Given the description of an element on the screen output the (x, y) to click on. 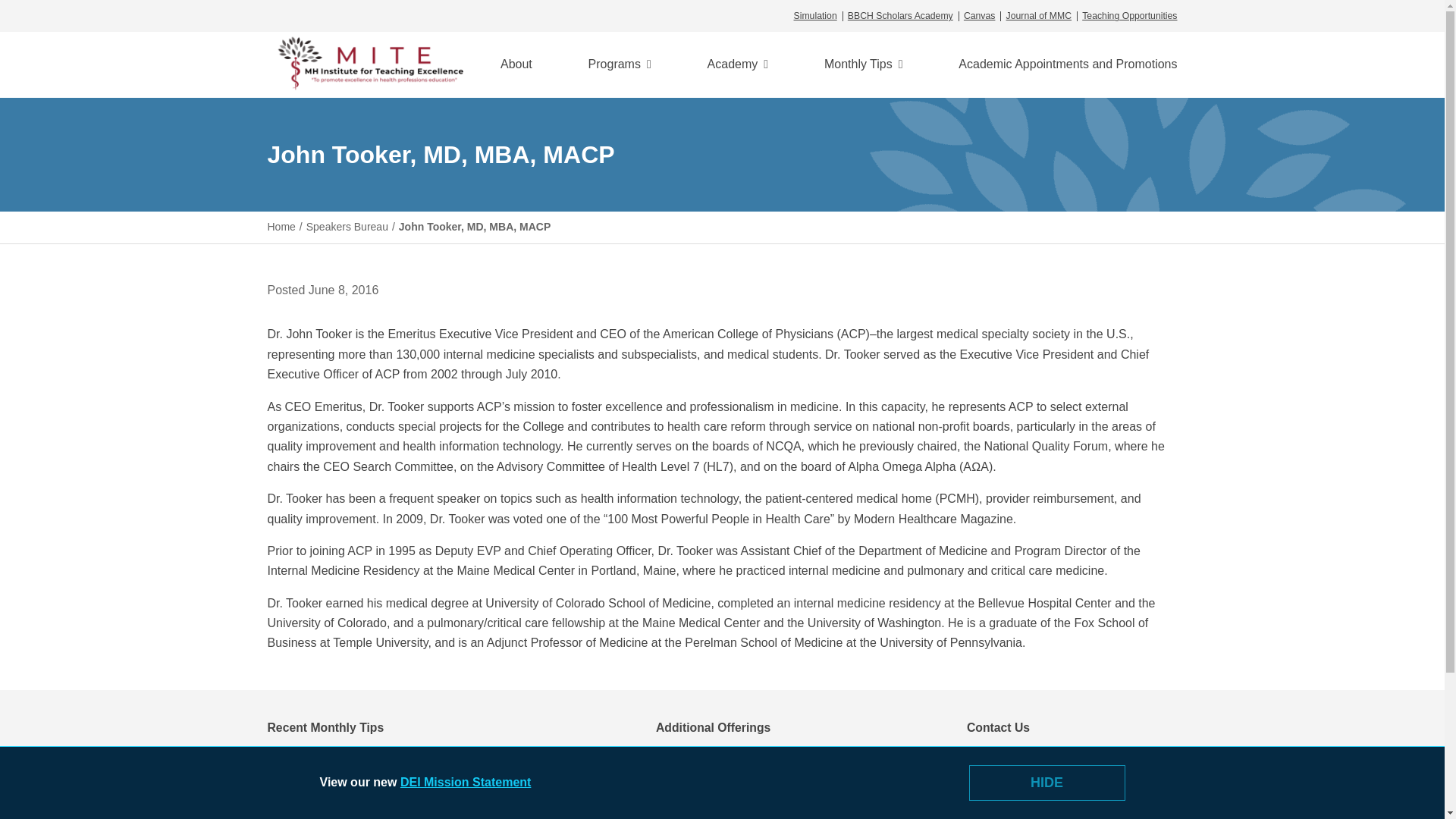
MITE MMC Institute for Teaching Excellence (372, 63)
Teaching Opportunities (1126, 15)
Monthly Tips (863, 64)
Simulation (817, 15)
Programs (619, 64)
BBCH Scholars Academy (900, 15)
Academy (737, 64)
Academic Appointments and Promotions (1067, 64)
The Academy at MITE (737, 64)
